Given the description of an element on the screen output the (x, y) to click on. 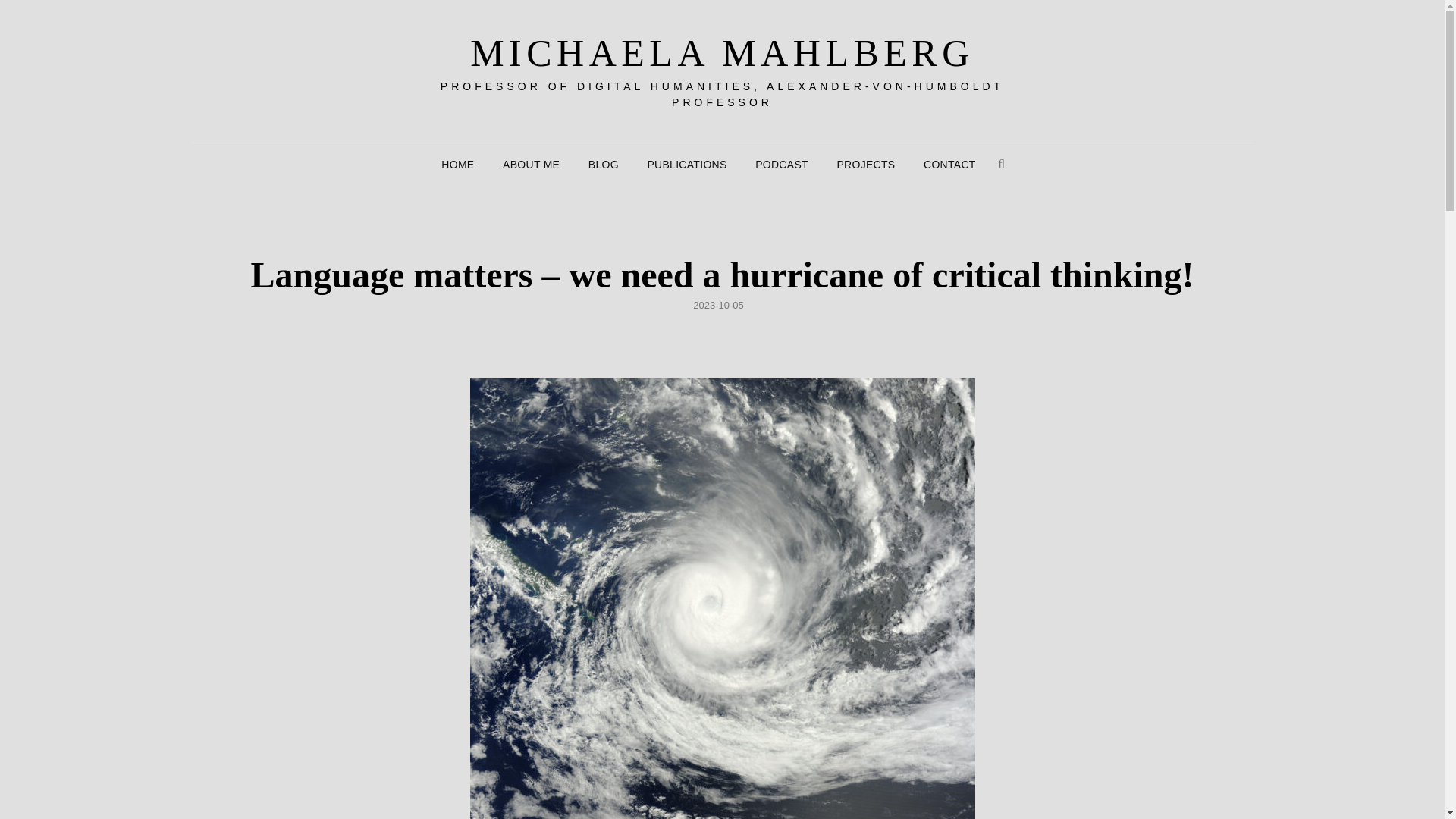
SEARCH (1001, 164)
HOME (457, 163)
PODCAST (781, 163)
PROJECTS (865, 163)
CONTACT (949, 163)
2023-10-05 (718, 305)
PUBLICATIONS (686, 163)
BLOG (603, 163)
ABOUT ME (531, 163)
MICHAELA MAHLBERG (722, 52)
